Given the description of an element on the screen output the (x, y) to click on. 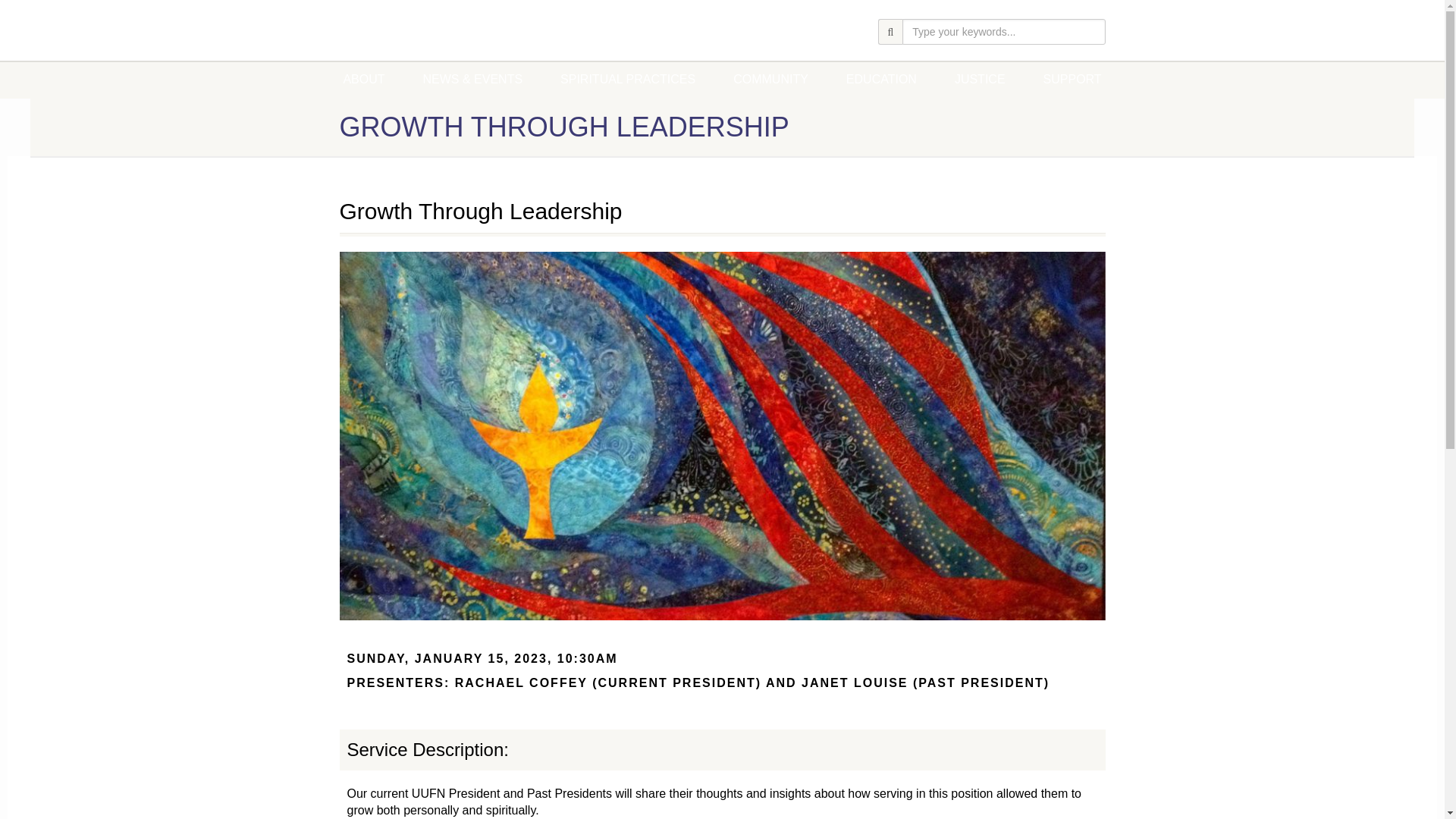
SPIRITUAL PRACTICES (627, 79)
ABOUT (363, 79)
